Given the description of an element on the screen output the (x, y) to click on. 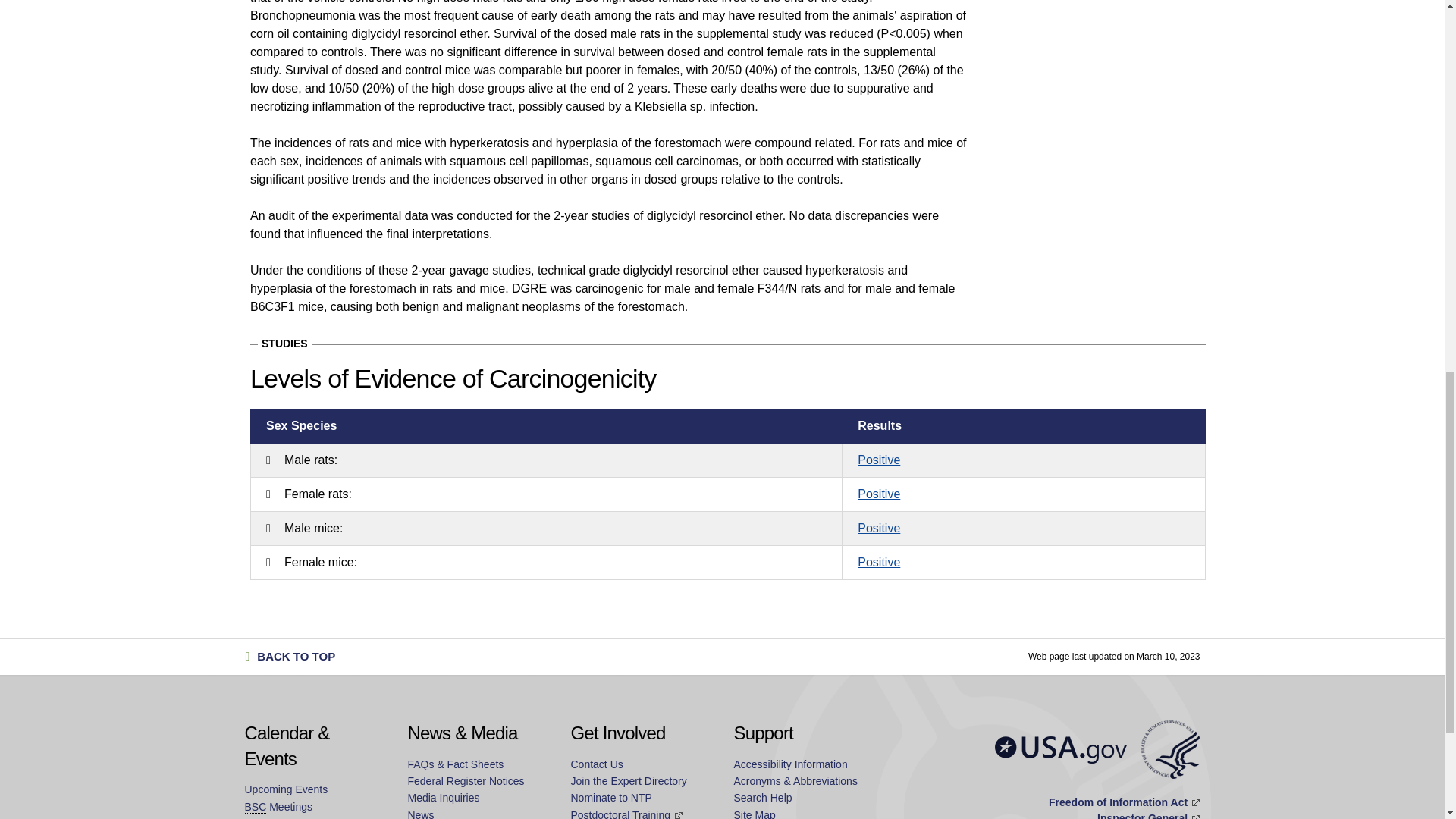
NTP Board of Scientific Counselors (255, 807)
USA.gov: Government Made Easy (1060, 749)
Positive (878, 459)
